Given the description of an element on the screen output the (x, y) to click on. 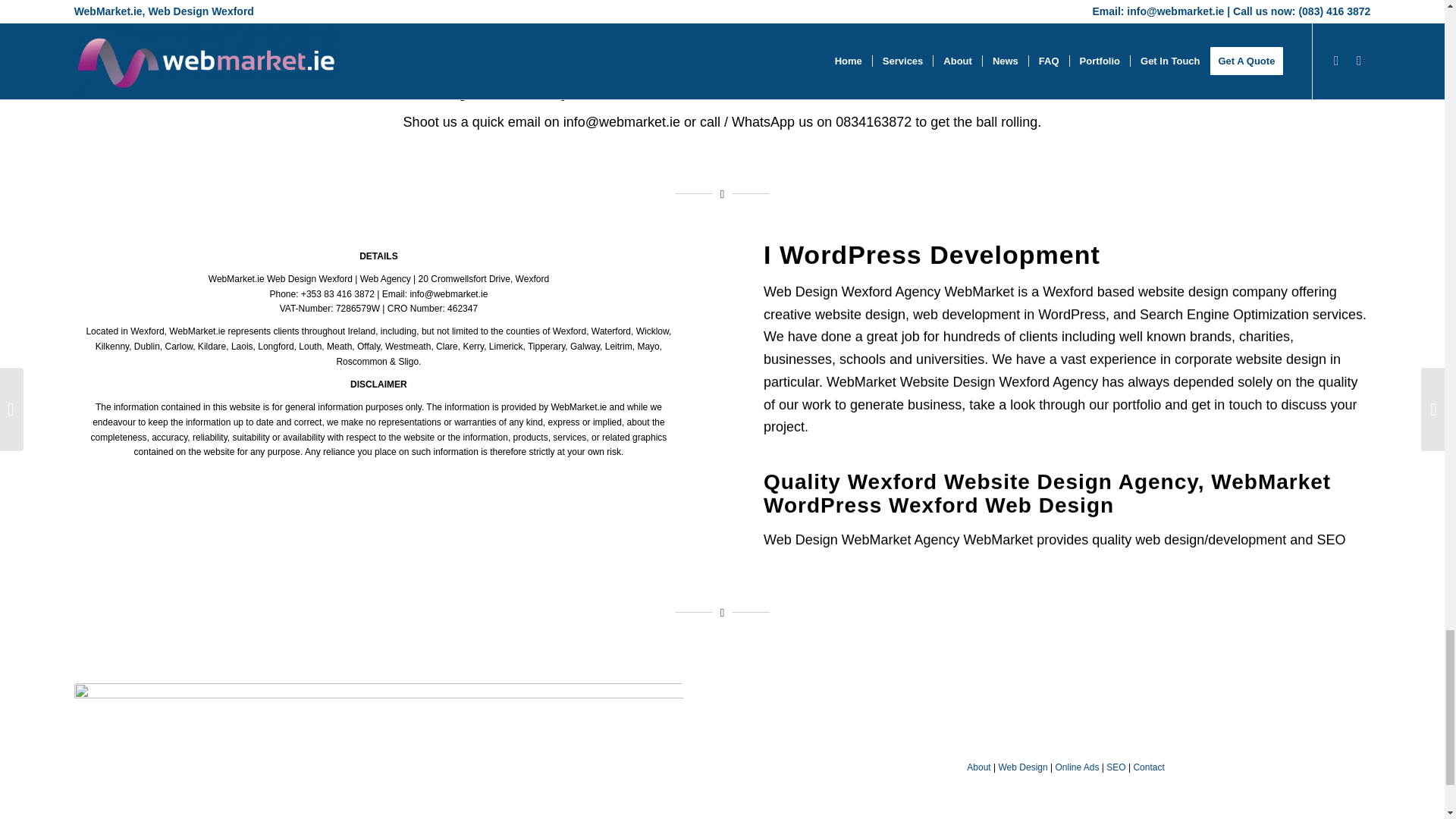
Web Design (1021, 767)
Contact (1147, 767)
About (978, 767)
SEO (1115, 767)
Online Ads (1076, 767)
